Given the description of an element on the screen output the (x, y) to click on. 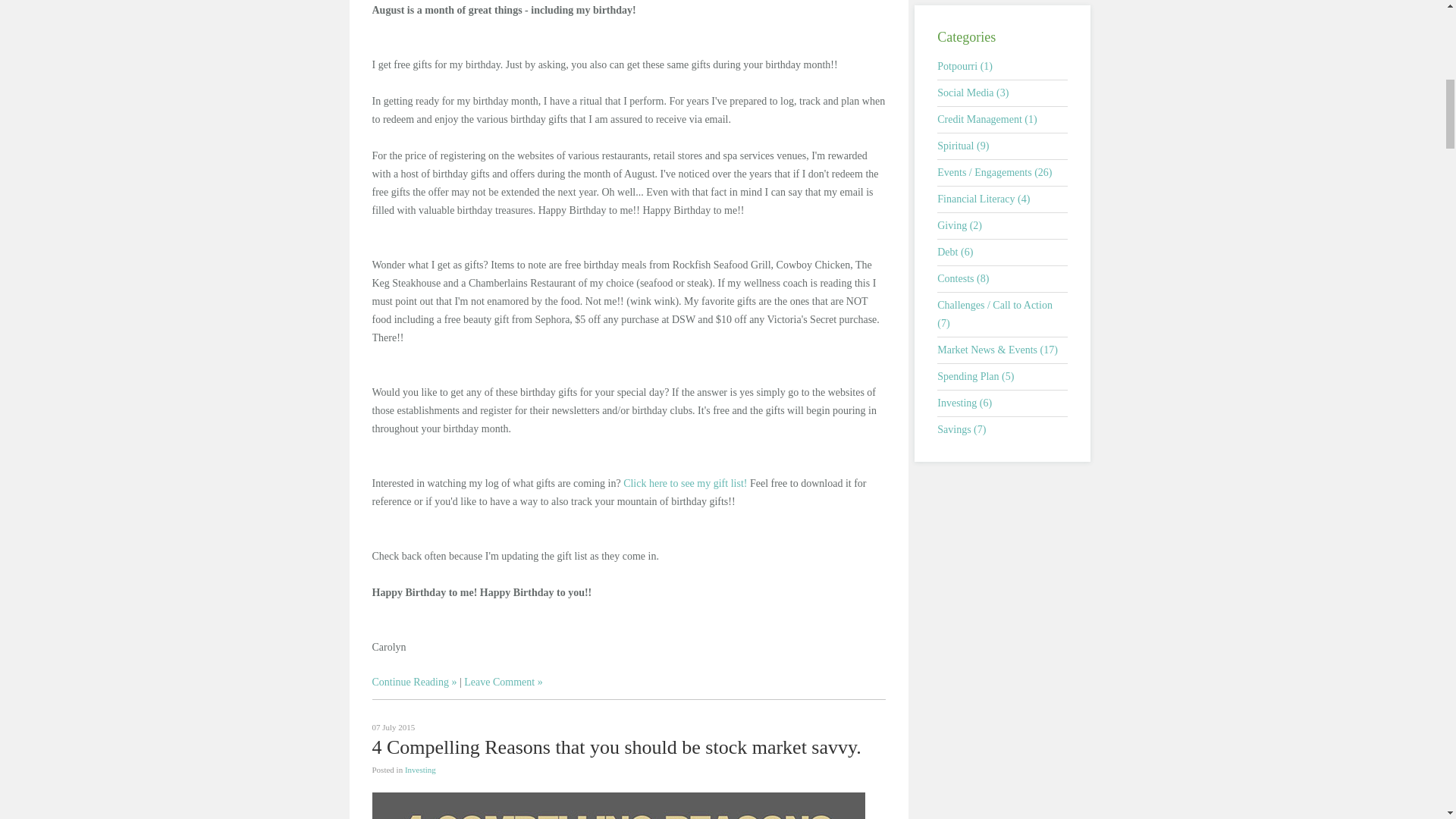
Investing (419, 768)
Continue Reading (414, 681)
Leave Comment (502, 681)
4 Compelling Reasons that you should be stock market savvy. (615, 746)
Click here to see my gift list! (684, 482)
4 Compelling Reasons that you should be stock market savvy. (615, 746)
